Given the description of an element on the screen output the (x, y) to click on. 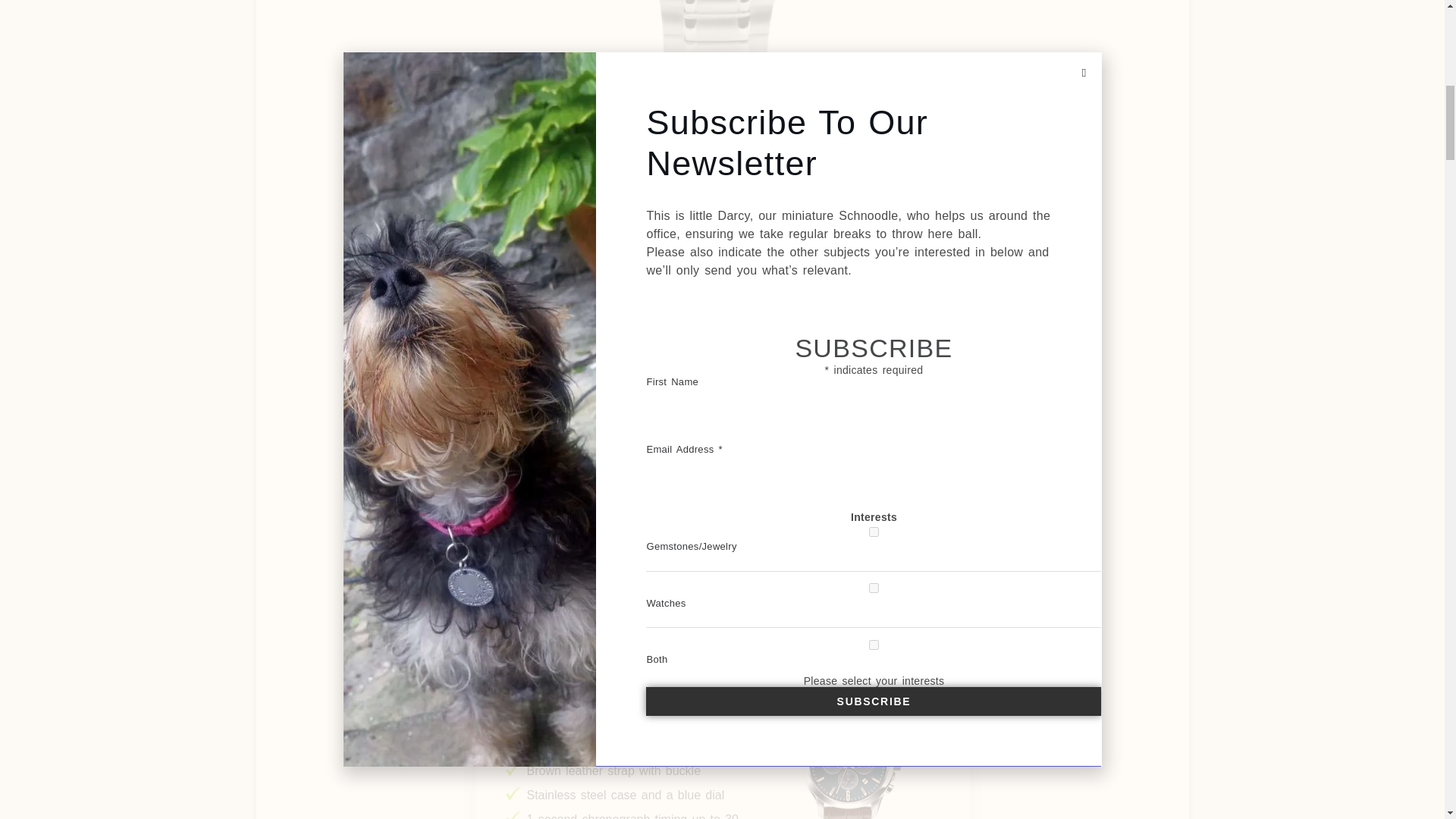
Accurist-7222-Mens-Watch-Carathea.co.uk (722, 58)
Accurist Mens Chronograph Watch with Leather Strap 7198.01 (722, 708)
